Given the description of an element on the screen output the (x, y) to click on. 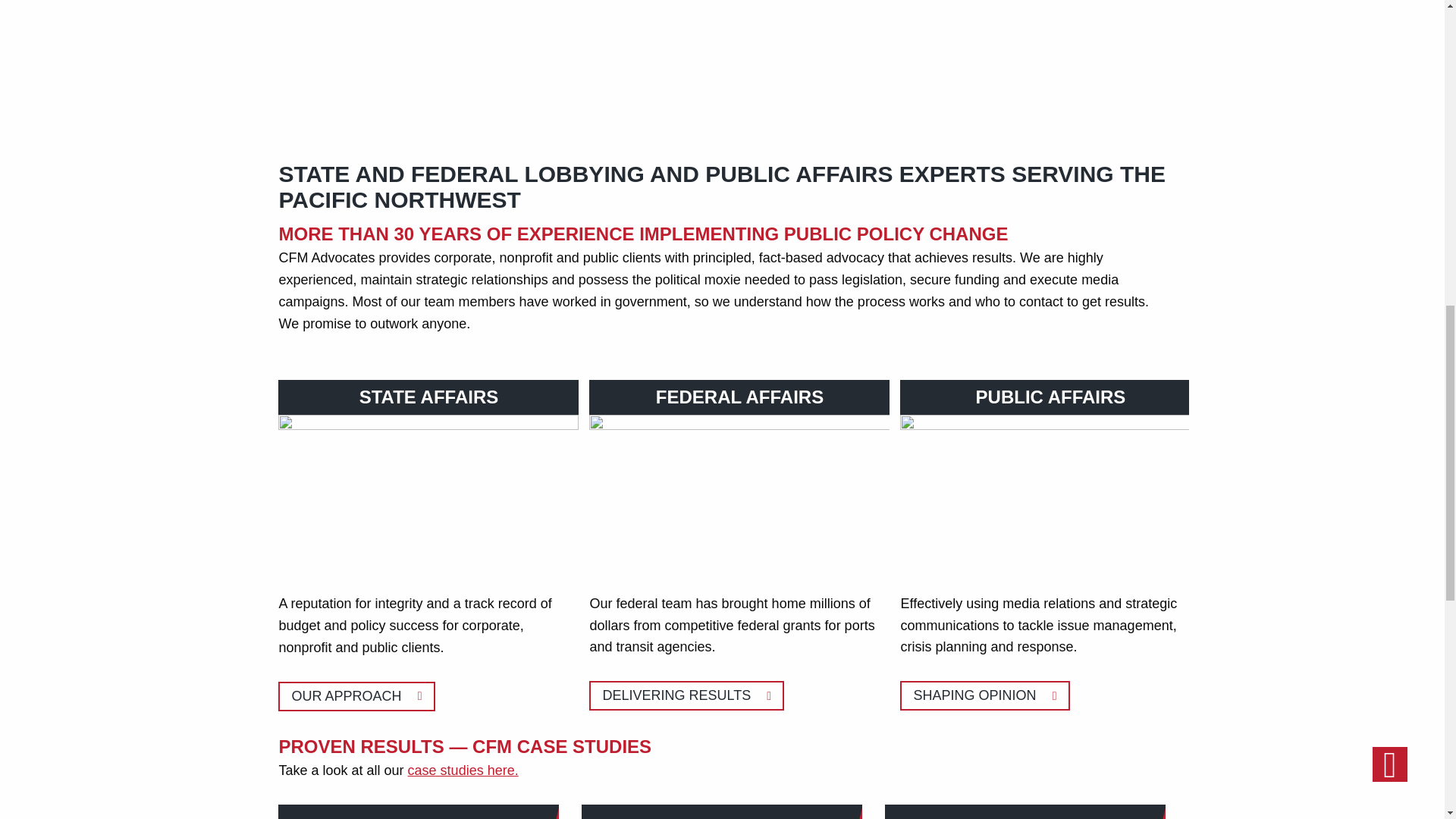
case-studies-homepage-cta (1049, 491)
state-affairs (428, 492)
federal-affairs (739, 491)
case studies here. (462, 770)
Public Affairs (720, 811)
SHAPING OPINION (983, 695)
OUR APPROACH (983, 695)
